Given the description of an element on the screen output the (x, y) to click on. 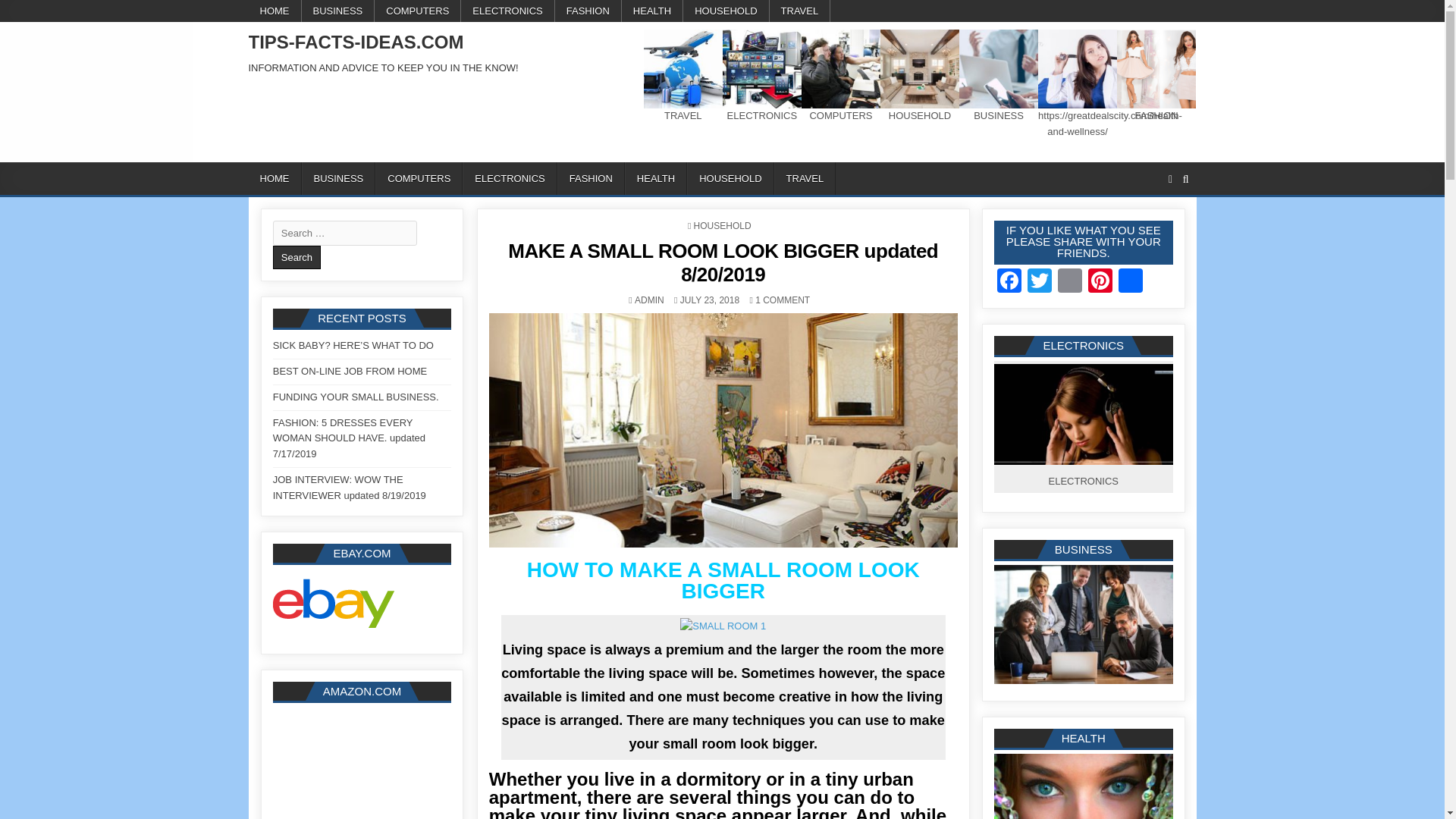
TRAVEL (804, 178)
HEALTH (651, 11)
HOUSEHOLD (725, 11)
BUSINESS (338, 178)
Search (296, 257)
ELECTRONICS (509, 178)
ELECTRONICS (507, 11)
HOW TO MAKE A SMALL ROOM LOOK BIGGER (723, 579)
HOME (274, 11)
HOUSEHOLD (730, 178)
